Given the description of an element on the screen output the (x, y) to click on. 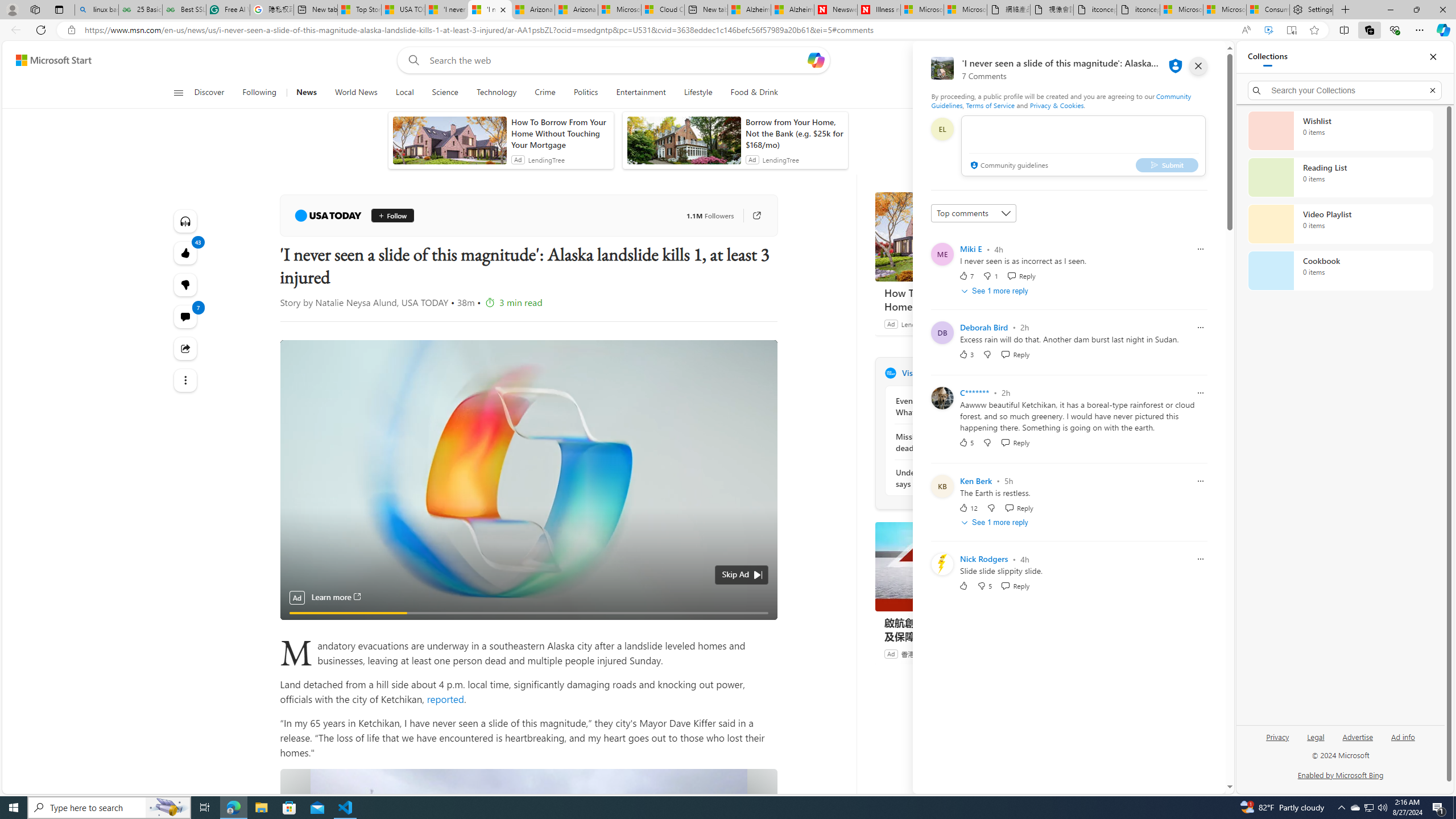
5 Like (965, 441)
Seek Back (319, 606)
Go to publisher's site (751, 215)
Share this story (184, 348)
Entertainment (640, 92)
Entertainment (641, 92)
close (1198, 65)
